Given the description of an element on the screen output the (x, y) to click on. 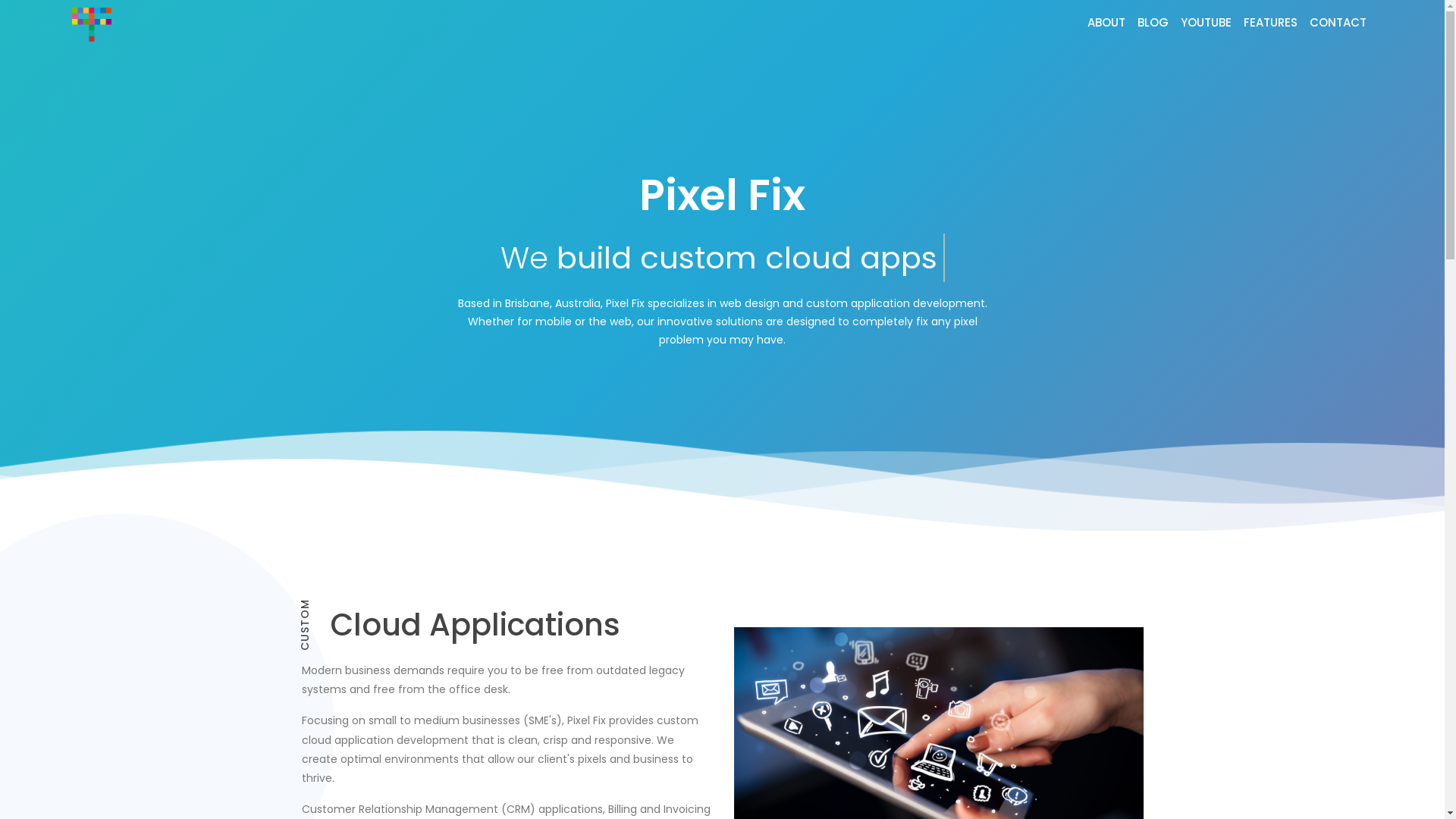
BLOG Element type: text (1152, 22)
CONTACT Element type: text (1337, 22)
ABOUT Element type: text (1106, 22)
YOUTUBE Element type: text (1205, 22)
FEATURES Element type: text (1270, 22)
